Given the description of an element on the screen output the (x, y) to click on. 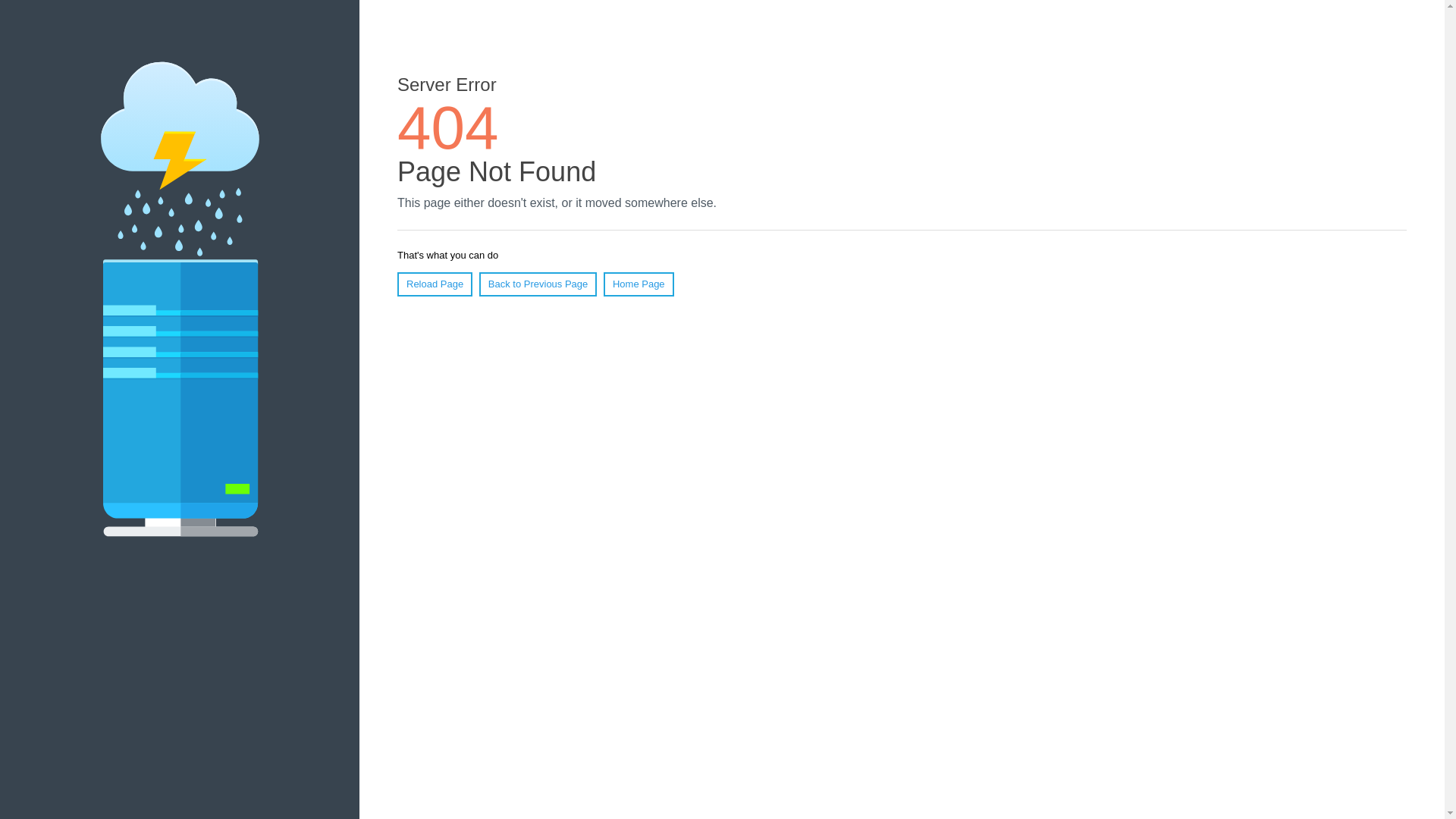
Reload Page Element type: text (434, 284)
Back to Previous Page Element type: text (538, 284)
Home Page Element type: text (638, 284)
